Given the description of an element on the screen output the (x, y) to click on. 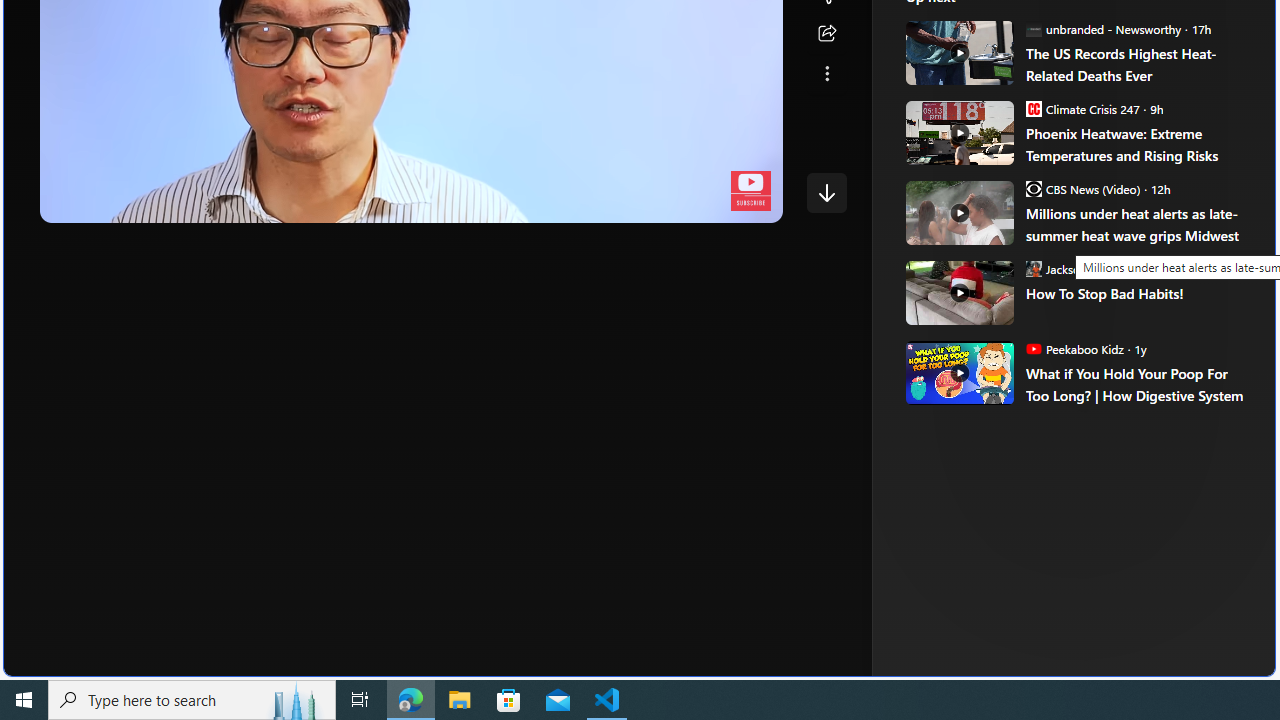
Full screen (f) (750, 202)
Climate Crisis 247 (1033, 108)
unbranded - Newsworthy (1033, 28)
CBS News (Video) CBS News (Video) (1082, 188)
Channel watermark (750, 191)
Subtitles/closed captions unavailable (603, 202)
Peekaboo Kidz Peekaboo Kidz (1074, 348)
How To Stop Bad Habits! (1136, 293)
unbranded - Newsworthy unbranded - Newsworthy (1103, 28)
